Given the description of an element on the screen output the (x, y) to click on. 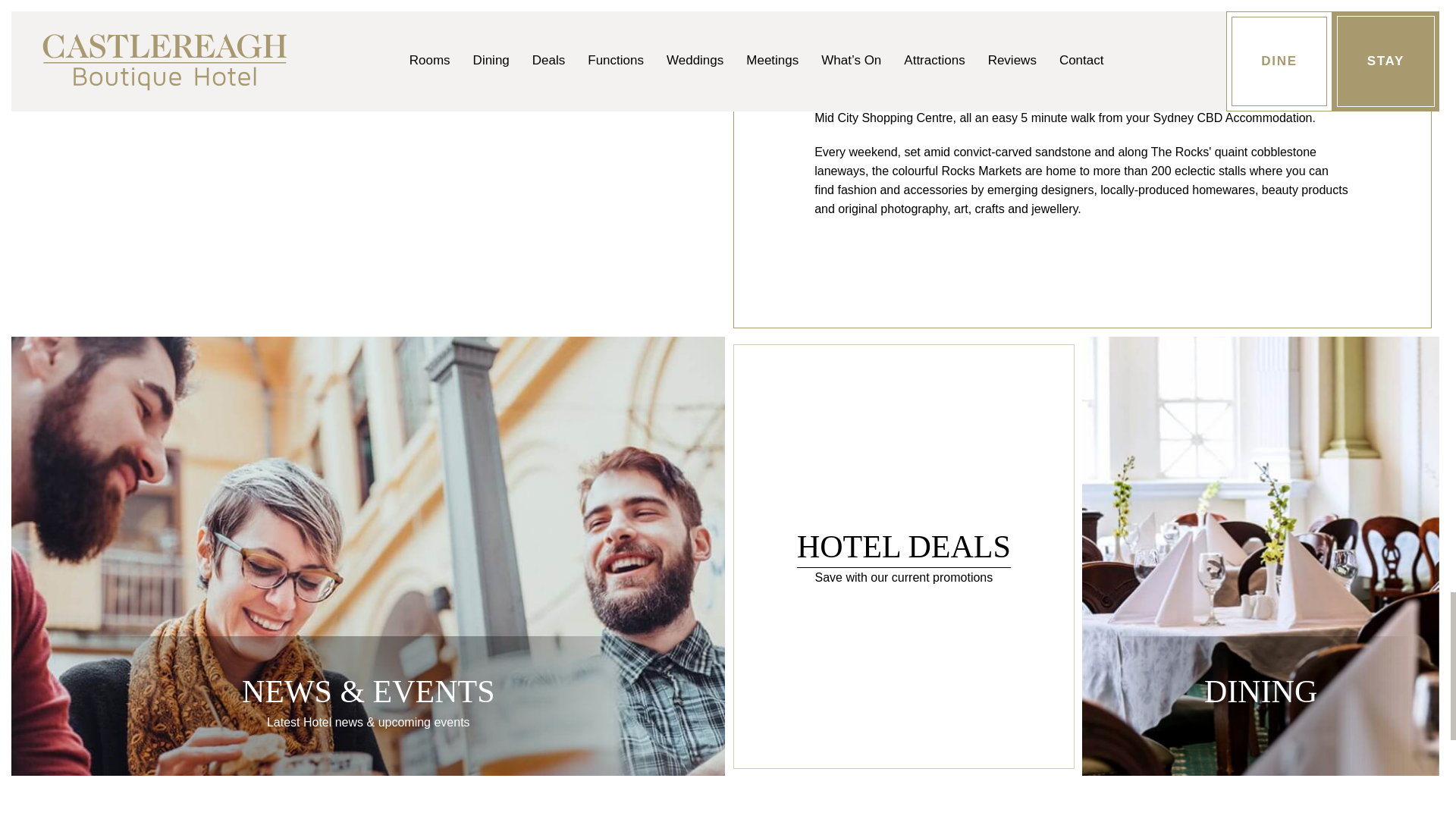
Boutique Heritage Restaurant Sydney (1260, 697)
Sydney CBD News and Events (368, 709)
DINING (903, 565)
Sydney Accommodation Specials (1260, 697)
